Given the description of an element on the screen output the (x, y) to click on. 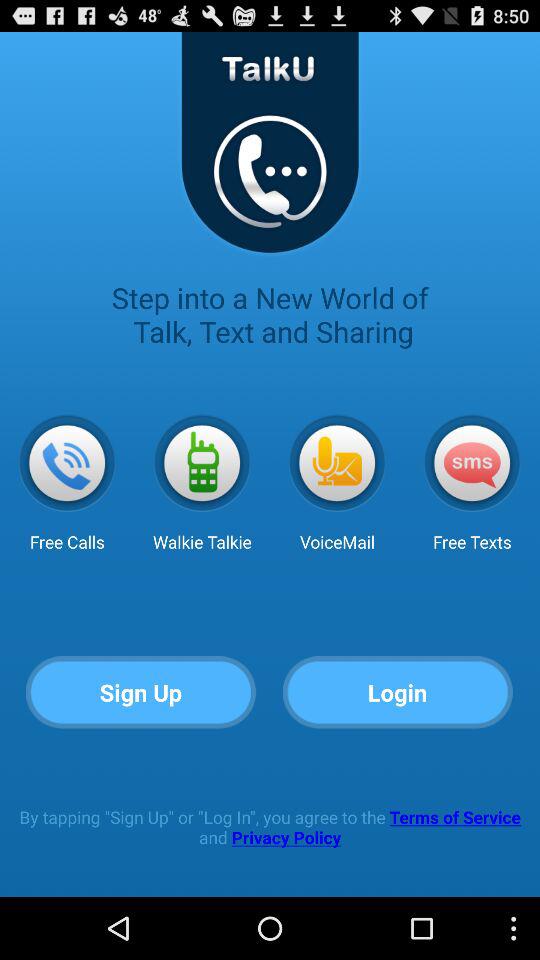
jump to by tapping sign (269, 826)
